Given the description of an element on the screen output the (x, y) to click on. 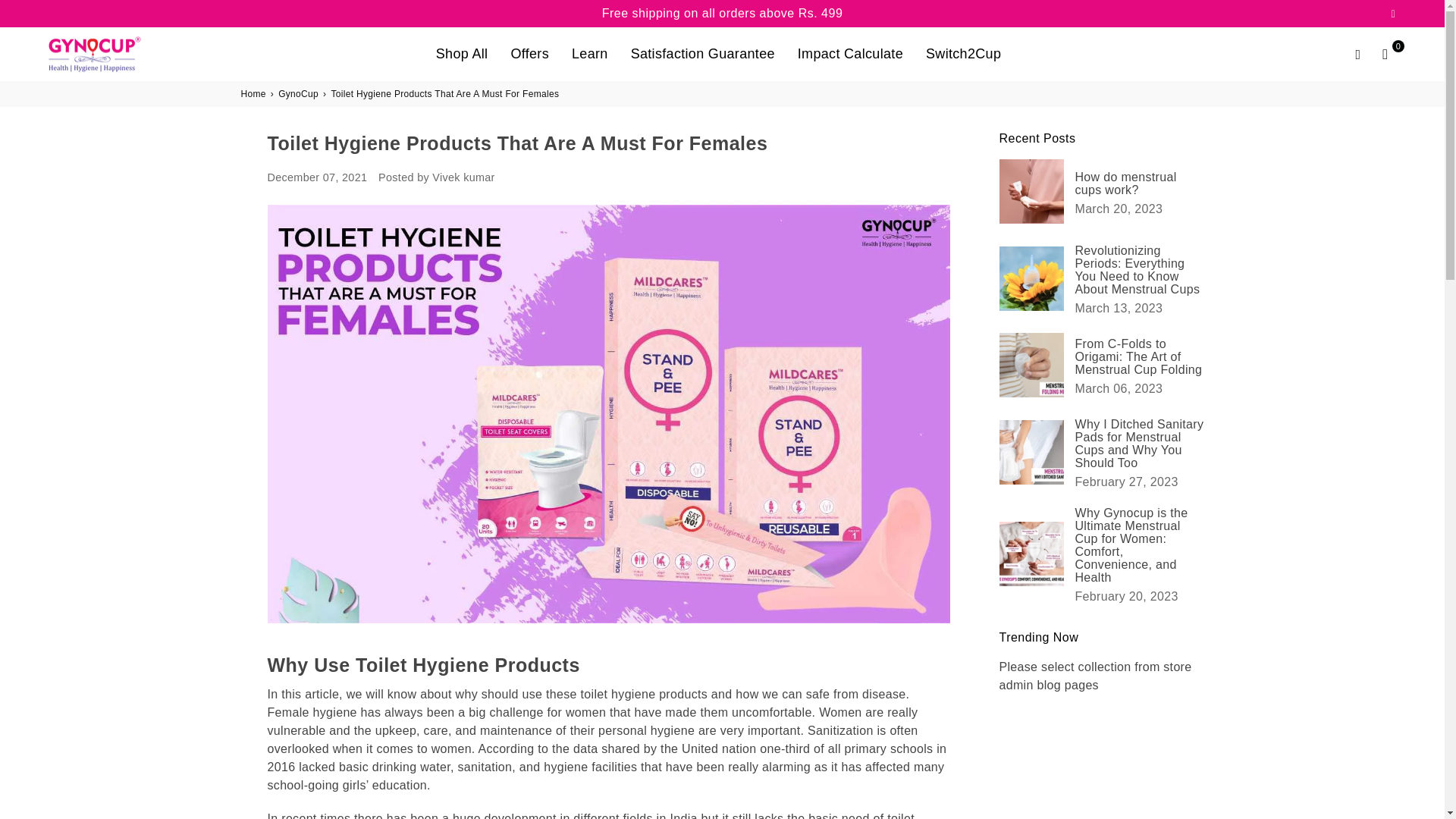
Satisfaction Guarantee (703, 53)
Free shipping on all orders above Rs. 499 (722, 13)
Impact Calculate (850, 53)
0 (1385, 53)
GYNOCUP (109, 53)
Learn (589, 53)
Shop All (462, 53)
Search (1357, 53)
Back to the home page (254, 93)
Offers (529, 53)
Switch2Cup (963, 53)
Cart (1385, 53)
